Given the description of an element on the screen output the (x, y) to click on. 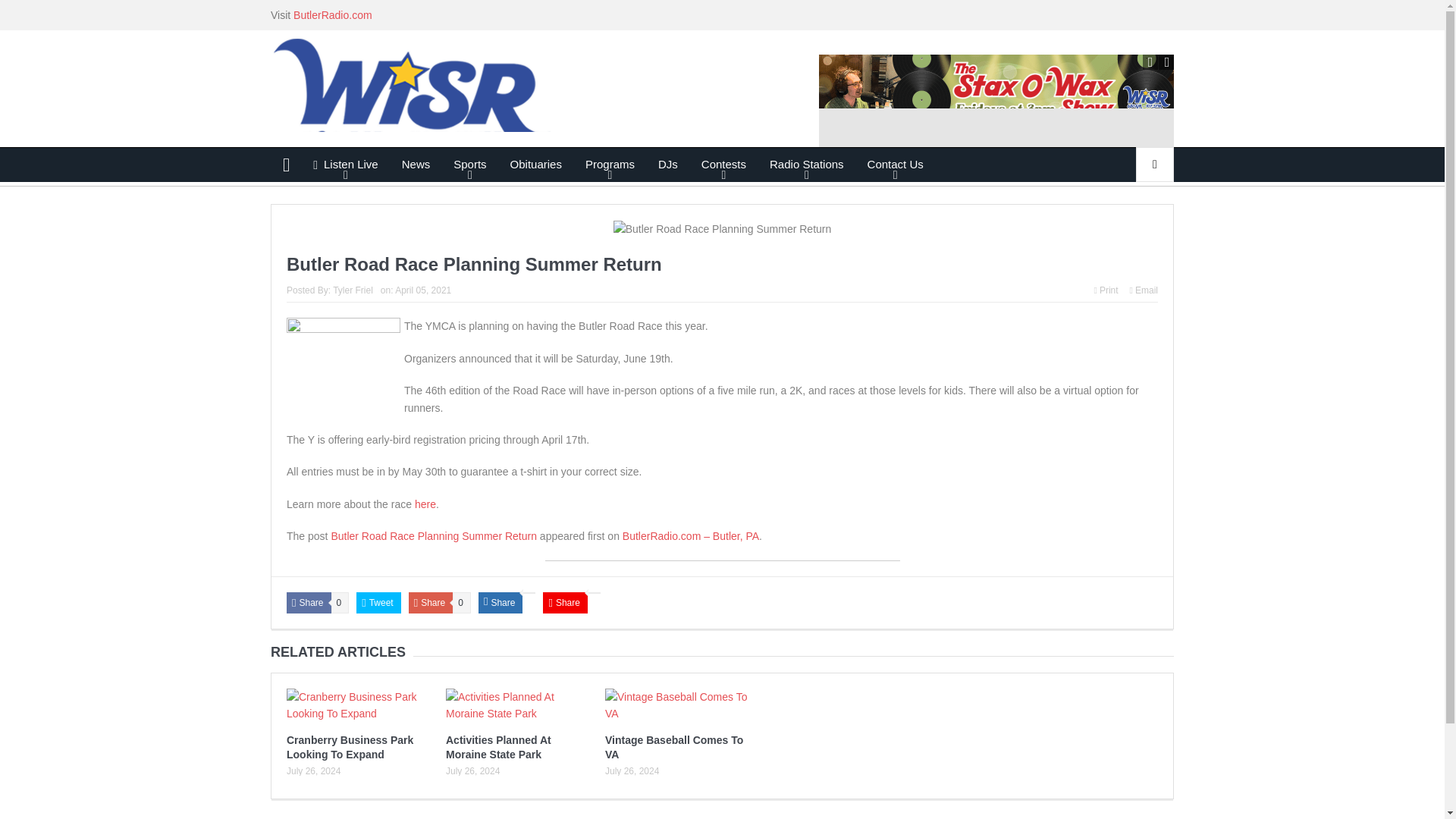
Listen Live (345, 164)
Contact Us (895, 164)
News (416, 164)
Obituaries (536, 164)
DJs (667, 164)
Radio Stations (807, 164)
Sports (469, 164)
ButlerRadio.com (333, 15)
Contests (723, 164)
Programs (609, 164)
